Given the description of an element on the screen output the (x, y) to click on. 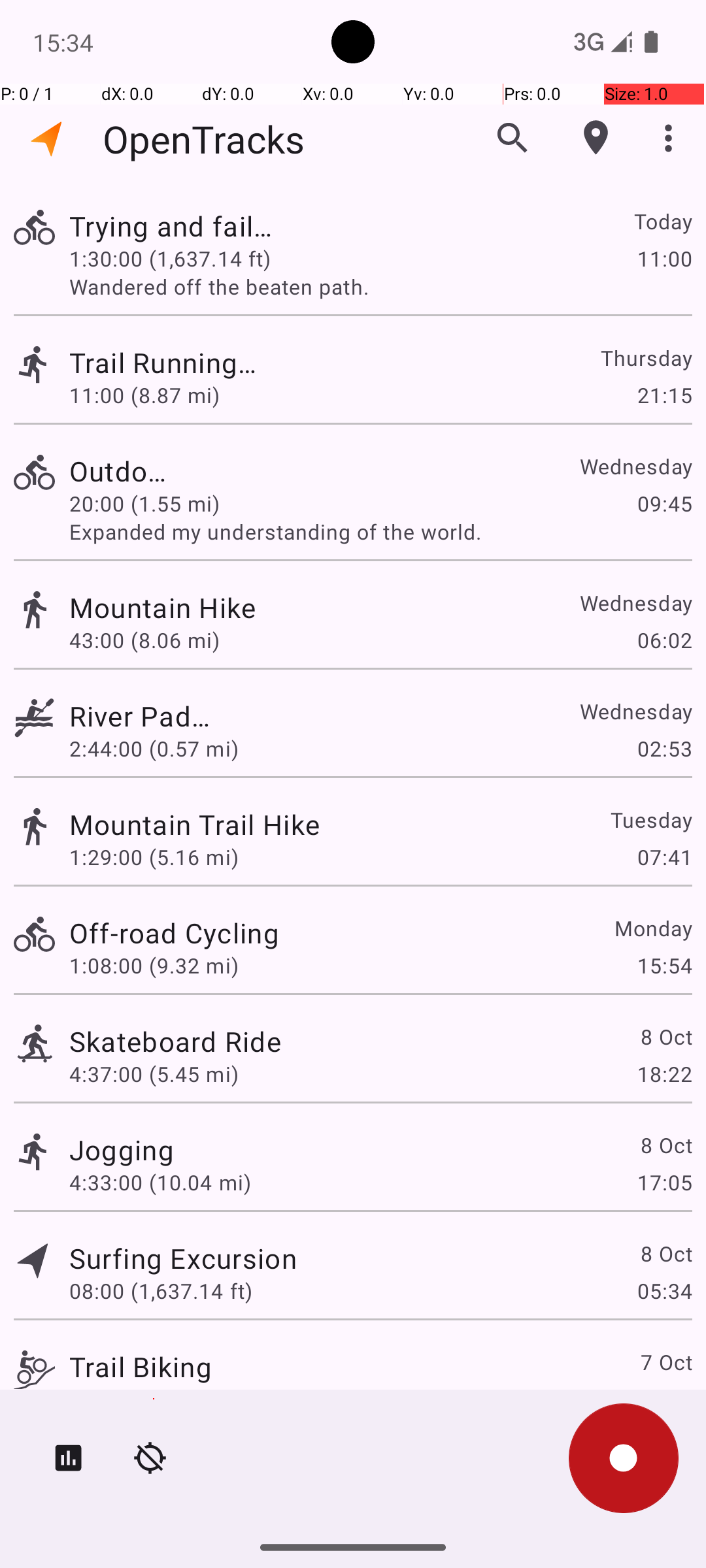
Trying and failing to keep up with John Element type: android.widget.TextView (173, 225)
1:30:00 (1,637.14 ft) Element type: android.widget.TextView (169, 258)
11:00 Element type: android.widget.TextView (664, 258)
Wandered off the beaten path. Element type: android.widget.TextView (380, 286)
Trail Running Challenge Element type: android.widget.TextView (174, 361)
11:00 (8.87 mi) Element type: android.widget.TextView (153, 394)
21:15 Element type: android.widget.TextView (664, 394)
Outdoor Adventure Element type: android.widget.TextView (121, 470)
20:00 (1.55 mi) Element type: android.widget.TextView (159, 503)
09:45 Element type: android.widget.TextView (664, 503)
Expanded my understanding of the world. Element type: android.widget.TextView (380, 531)
Mountain Hike Element type: android.widget.TextView (182, 606)
43:00 (8.06 mi) Element type: android.widget.TextView (160, 639)
06:02 Element type: android.widget.TextView (664, 639)
River Paddle Element type: android.widget.TextView (140, 715)
2:44:00 (0.57 mi) Element type: android.widget.TextView (153, 748)
02:53 Element type: android.widget.TextView (664, 748)
Mountain Trail Hike Element type: android.widget.TextView (194, 823)
1:29:00 (5.16 mi) Element type: android.widget.TextView (153, 856)
07:41 Element type: android.widget.TextView (664, 856)
Off-road Cycling Element type: android.widget.TextView (173, 932)
1:08:00 (9.32 mi) Element type: android.widget.TextView (153, 965)
15:54 Element type: android.widget.TextView (664, 965)
Skateboard Ride Element type: android.widget.TextView (174, 1040)
4:37:00 (5.45 mi) Element type: android.widget.TextView (153, 1073)
18:22 Element type: android.widget.TextView (664, 1073)
Jogging Element type: android.widget.TextView (121, 1149)
4:33:00 (10.04 mi) Element type: android.widget.TextView (159, 1182)
17:05 Element type: android.widget.TextView (664, 1182)
Surfing Excursion Element type: android.widget.TextView (182, 1257)
08:00 (1,637.14 ft) Element type: android.widget.TextView (160, 1290)
05:34 Element type: android.widget.TextView (664, 1290)
Trail Biking Element type: android.widget.TextView (140, 1366)
7 Oct Element type: android.widget.TextView (665, 1361)
3:49:00 (2.34 mi) Element type: android.widget.TextView (153, 1399)
12:14 Element type: android.widget.TextView (664, 1399)
